Given the description of an element on the screen output the (x, y) to click on. 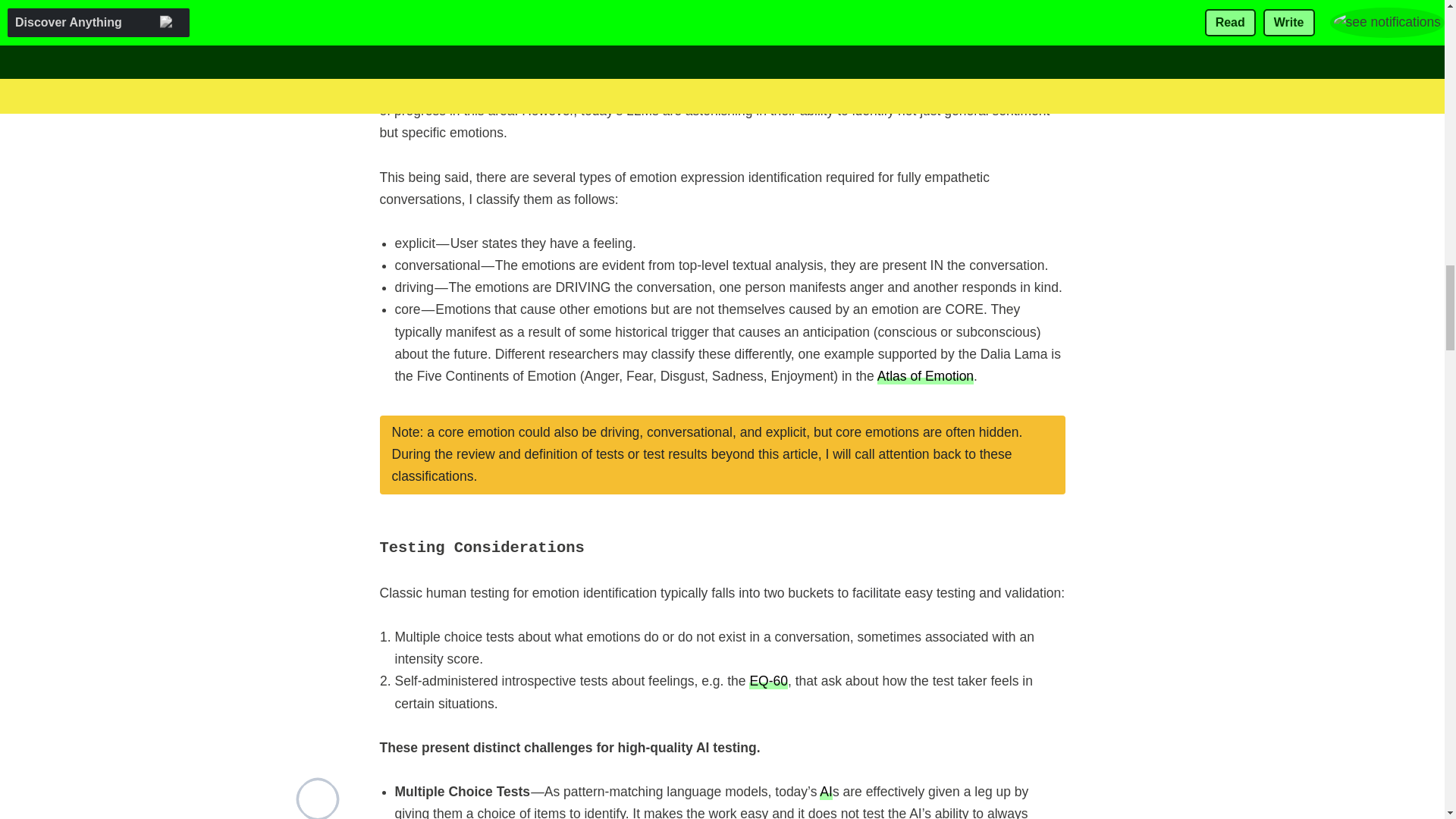
AI (825, 791)
Atlas of Emotion (925, 375)
EQ-60 (768, 680)
